Given the description of an element on the screen output the (x, y) to click on. 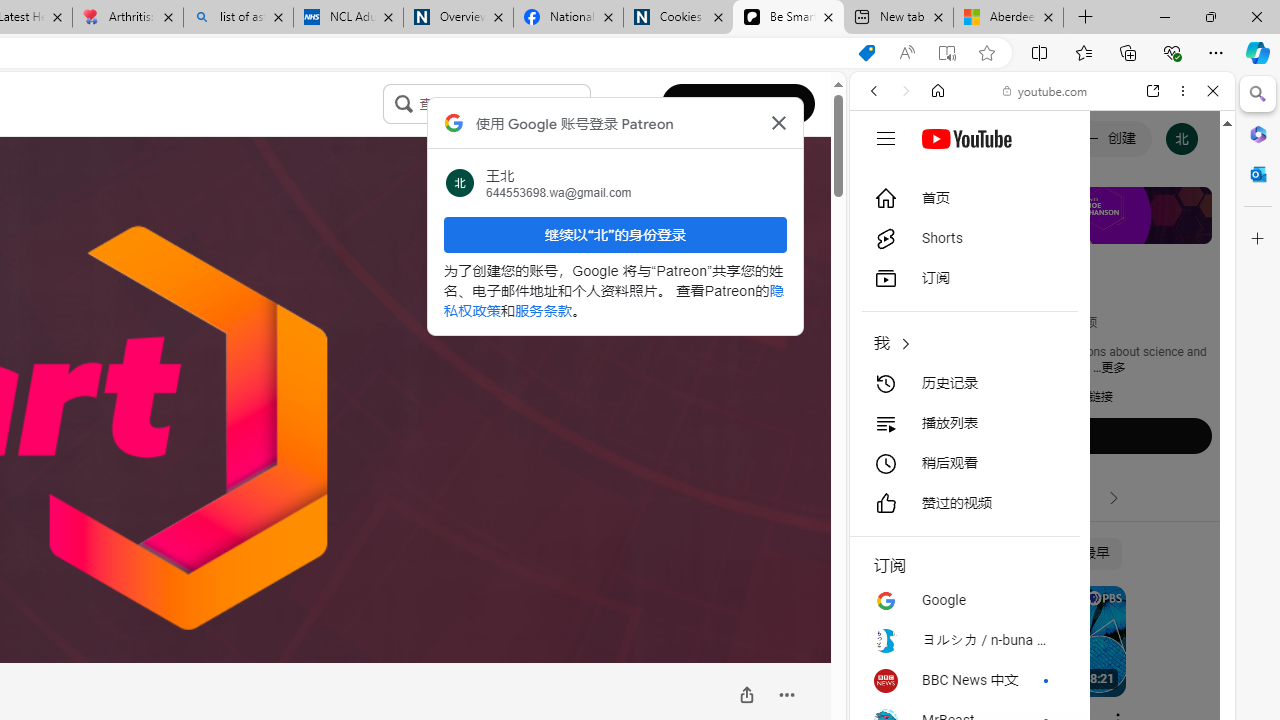
Search Filter, IMAGES (939, 228)
Trailer #2 [HD] (1042, 594)
NCL Adult Asthma Inhaler Choice Guideline (348, 17)
More options (1182, 91)
#you (1042, 445)
Shopping in Microsoft Edge (867, 53)
Open link in new tab (1153, 91)
Music (1042, 543)
Home (938, 91)
